Given the description of an element on the screen output the (x, y) to click on. 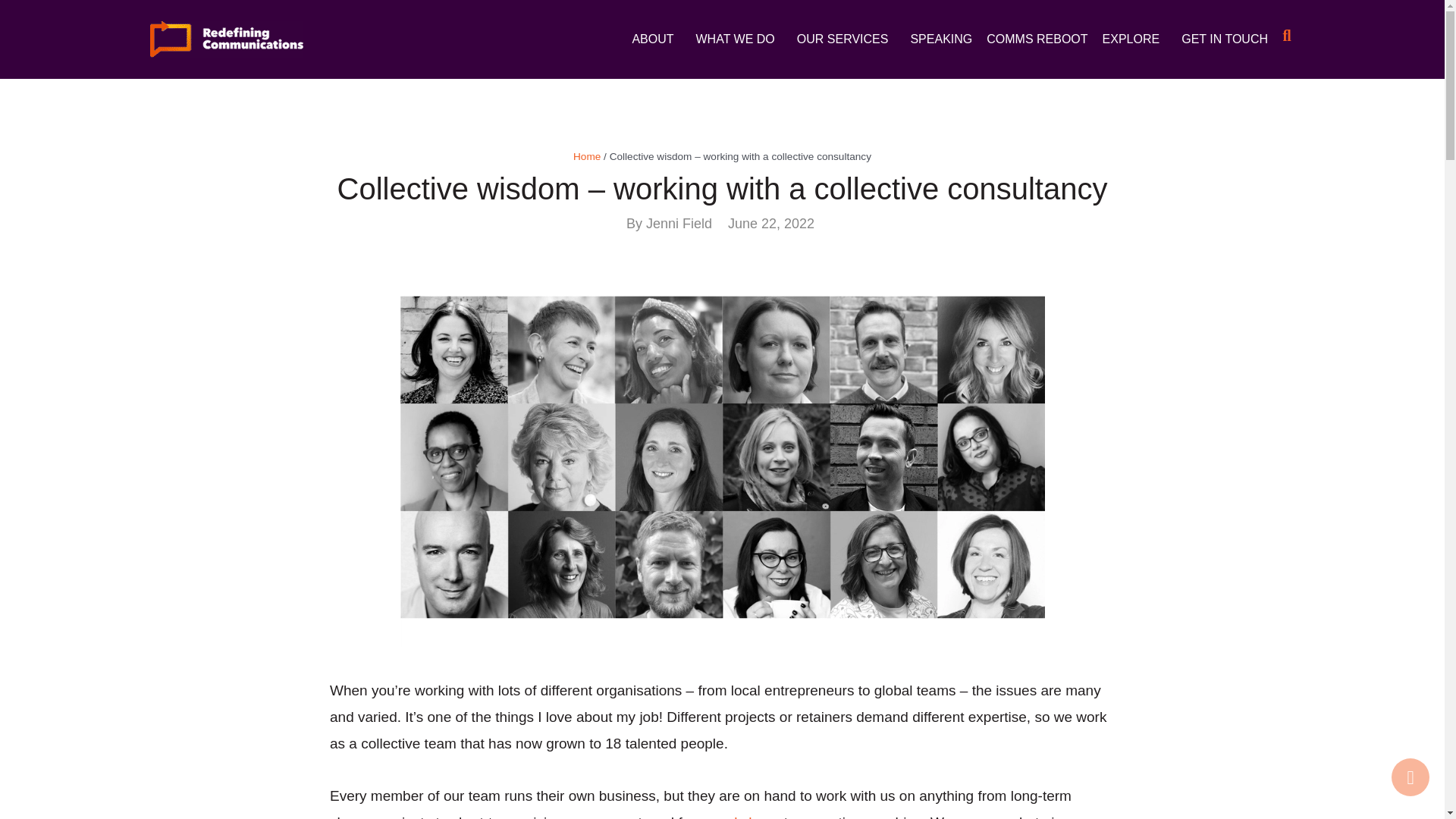
OUR SERVICES (846, 39)
WHAT WE DO (739, 39)
EXPLORE (1134, 39)
COMMS REBOOT (1037, 39)
ABOUT (656, 39)
GET IN TOUCH (1224, 39)
SPEAKING (941, 39)
